Given the description of an element on the screen output the (x, y) to click on. 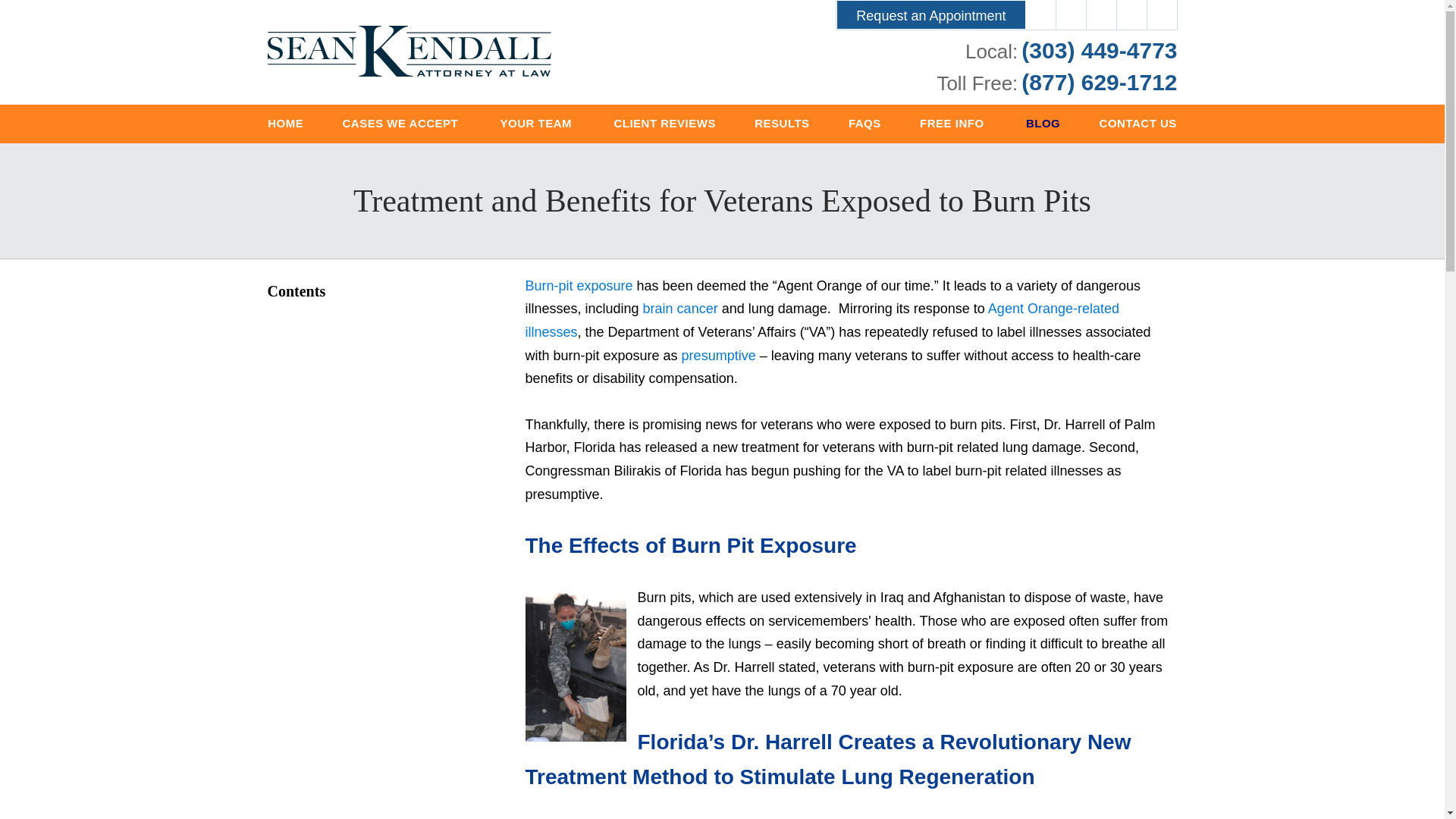
Search (1161, 15)
YOUR TEAM (537, 123)
FAQS (863, 123)
RESULTS (782, 123)
CASES WE ACCEPT (401, 123)
Request an Appointment (930, 14)
CLIENT REVIEWS (664, 123)
HOME (285, 123)
FREE INFO (952, 123)
